Given the description of an element on the screen output the (x, y) to click on. 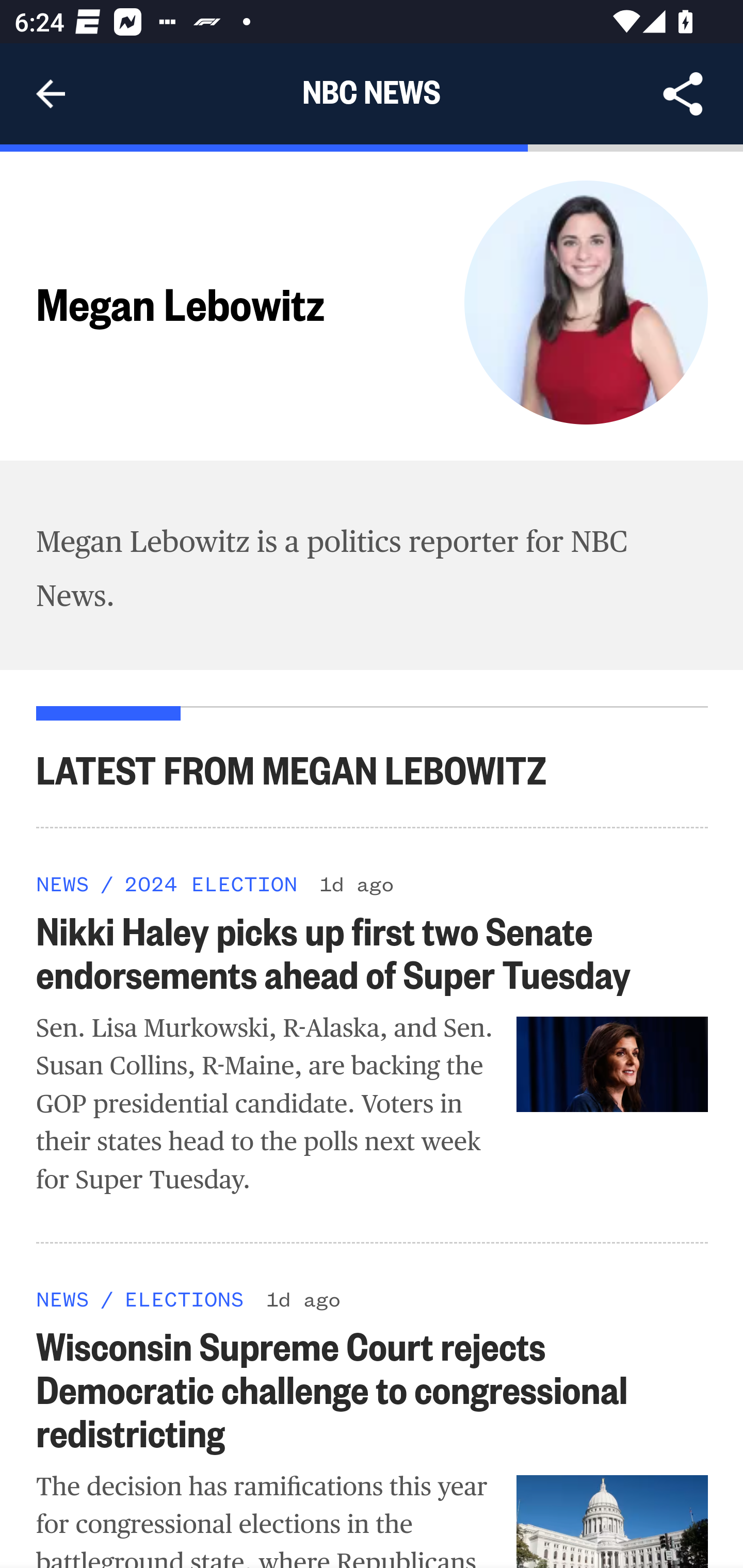
Navigate up (50, 93)
Share Article, button (683, 94)
NEWS NEWS NEWS (63, 882)
2024 ELECTION 2024 ELECTION 2024 ELECTION (209, 882)
NEWS NEWS NEWS (63, 1297)
ELECTIONS ELECTIONS ELECTIONS (183, 1297)
